Given the description of an element on the screen output the (x, y) to click on. 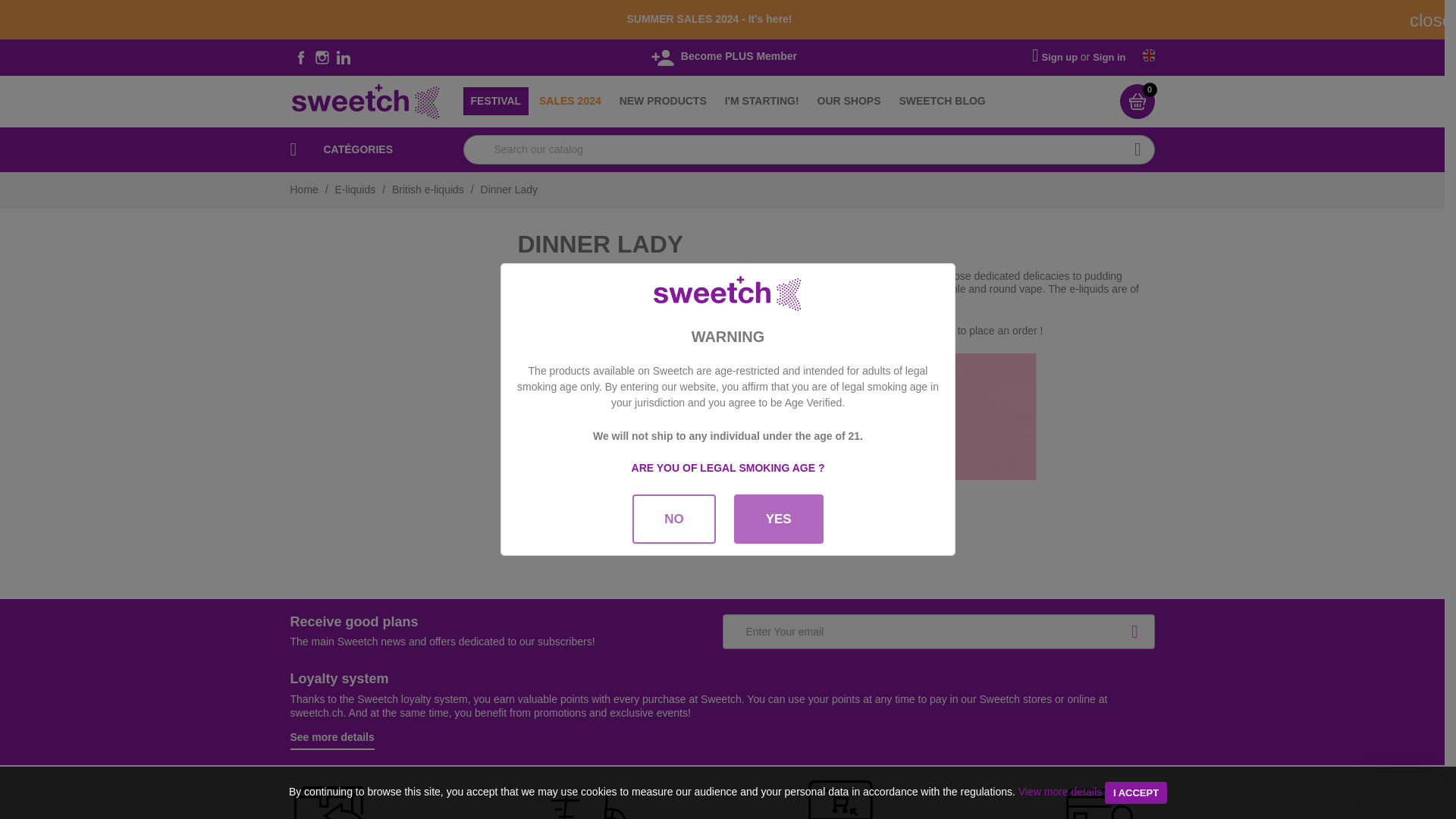
See more details on our loyalty system (331, 740)
SUMMER SALES 2024 - It's here! (709, 19)
Log in to your customer account (1109, 56)
Facebook (299, 57)
NO (673, 518)
FESTIVAL (495, 101)
Create a customer account (1061, 56)
OUR SHOPS (848, 101)
Instagram (321, 57)
SALES 2024 (569, 101)
Sign up (1061, 56)
Become PLUS Member (721, 55)
NEW PRODUCTS (662, 101)
YES (778, 518)
SWEETCH BLOG (941, 101)
